Given the description of an element on the screen output the (x, y) to click on. 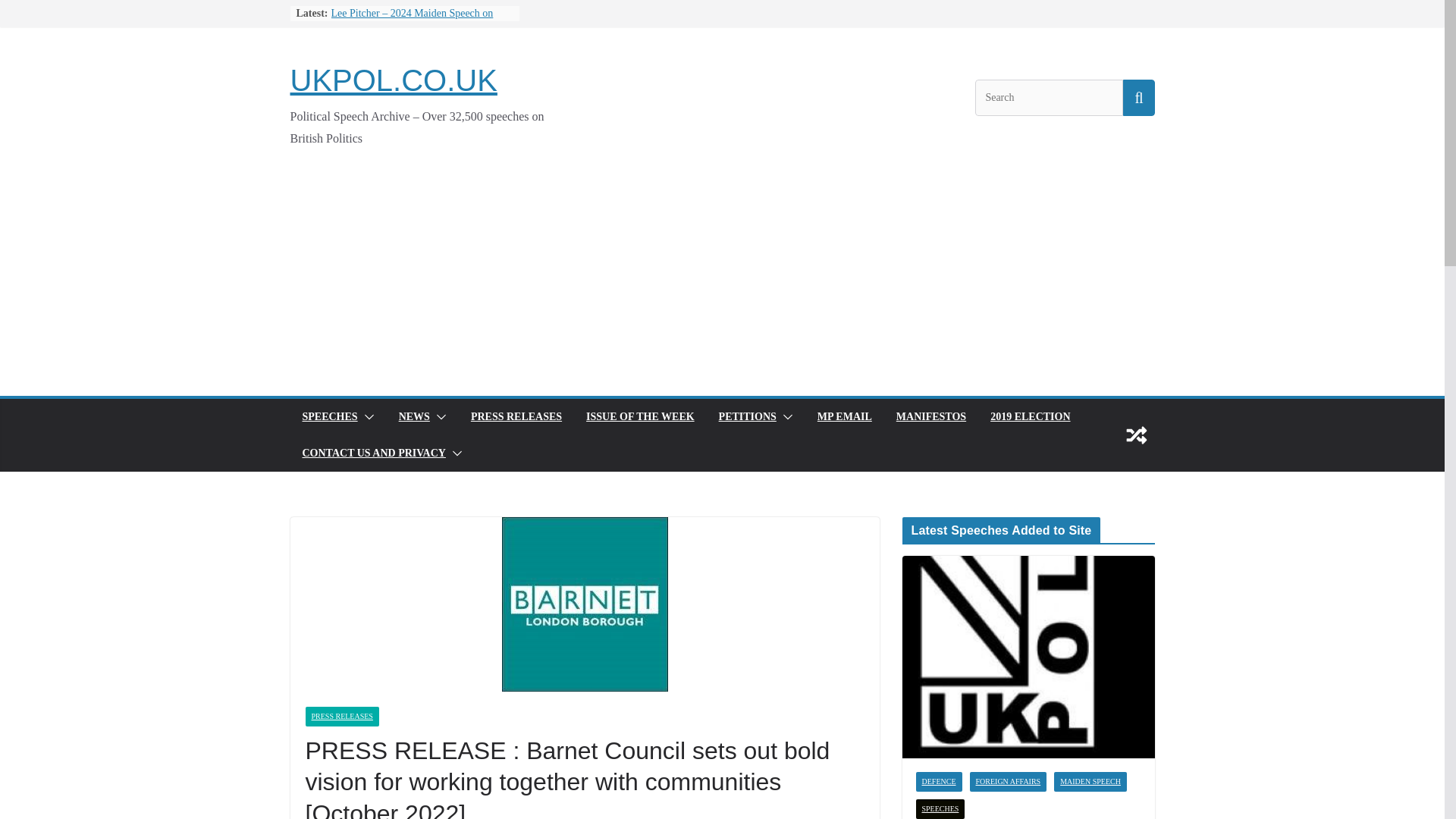
UKPOL.CO.UK (392, 80)
PRESS RELEASES (516, 416)
UKPOL.CO.UK (392, 80)
PRESS RELEASES (341, 716)
View a random post (1136, 434)
PETITIONS (747, 416)
CONTACT US AND PRIVACY (373, 453)
MP EMAIL (844, 416)
ISSUE OF THE WEEK (640, 416)
2019 ELECTION (1030, 416)
SPEECHES (328, 416)
MANIFESTOS (931, 416)
NEWS (413, 416)
